Given the description of an element on the screen output the (x, y) to click on. 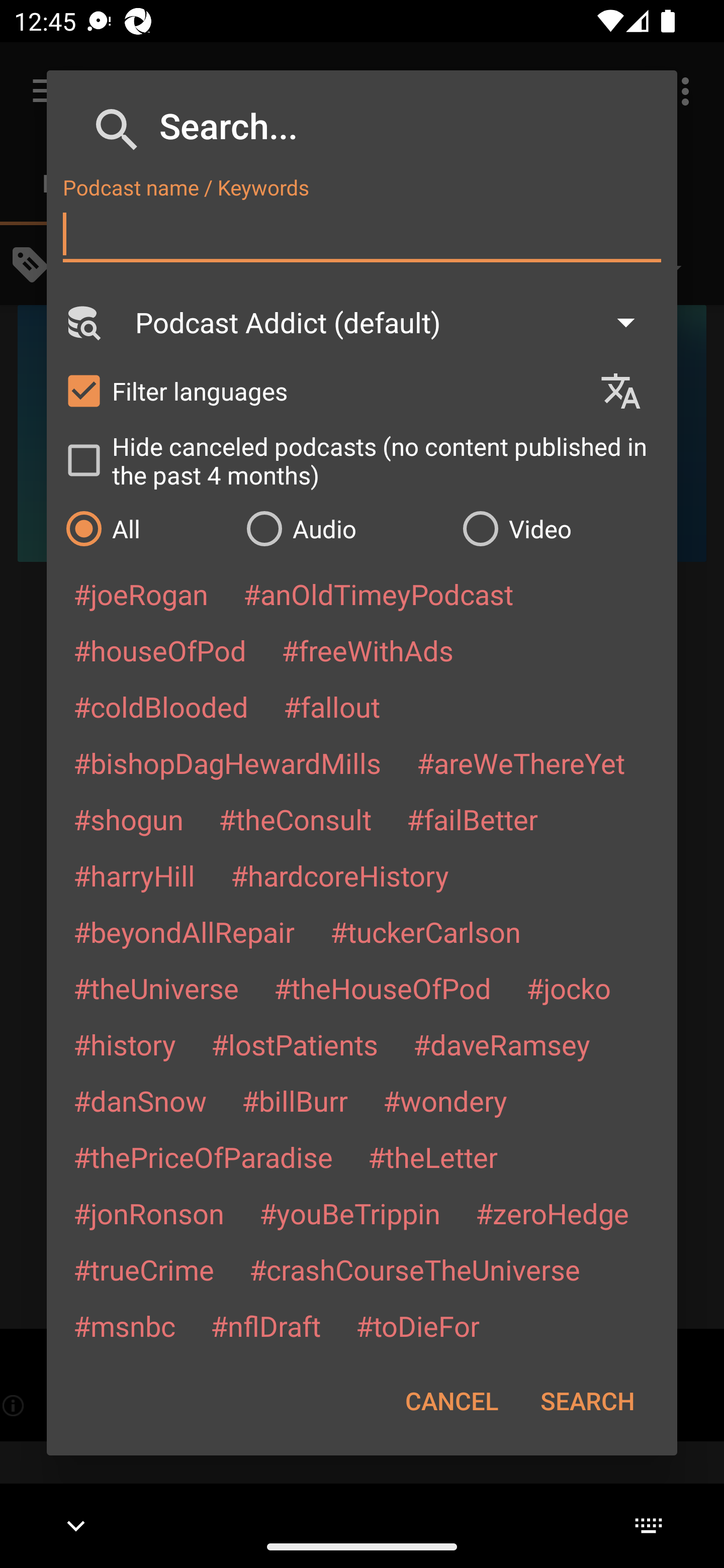
Podcast name / Keywords (361, 234)
Search Engine (82, 322)
Podcast Addict (default) (394, 322)
Languages selection (629, 390)
Filter languages (322, 390)
All (145, 528)
Audio (344, 528)
Video (560, 528)
#joeRogan (140, 594)
#anOldTimeyPodcast (378, 594)
#houseOfPod (159, 650)
#freeWithAds (367, 650)
#coldBlooded (160, 705)
#fallout (331, 705)
#bishopDagHewardMills (227, 762)
#areWeThereYet (521, 762)
#shogun (128, 818)
#theConsult (294, 818)
#failBetter (471, 818)
#harryHill (134, 875)
#hardcoreHistory (339, 875)
#beyondAllRepair (184, 931)
#tuckerCarlson (425, 931)
#theUniverse (155, 987)
#theHouseOfPod (381, 987)
#jocko (568, 987)
#history (124, 1044)
#lostPatients (294, 1044)
#daveRamsey (501, 1044)
#danSnow (139, 1100)
#billBurr (294, 1100)
#wondery (444, 1100)
#thePriceOfParadise (203, 1157)
#theLetter (432, 1157)
#jonRonson (148, 1213)
#youBeTrippin (349, 1213)
#zeroHedge (552, 1213)
#trueCrime (143, 1268)
#crashCourseTheUniverse (414, 1268)
#msnbc (124, 1325)
#nflDraft (265, 1325)
#toDieFor (417, 1325)
CANCEL (451, 1400)
SEARCH (587, 1400)
